Given the description of an element on the screen output the (x, y) to click on. 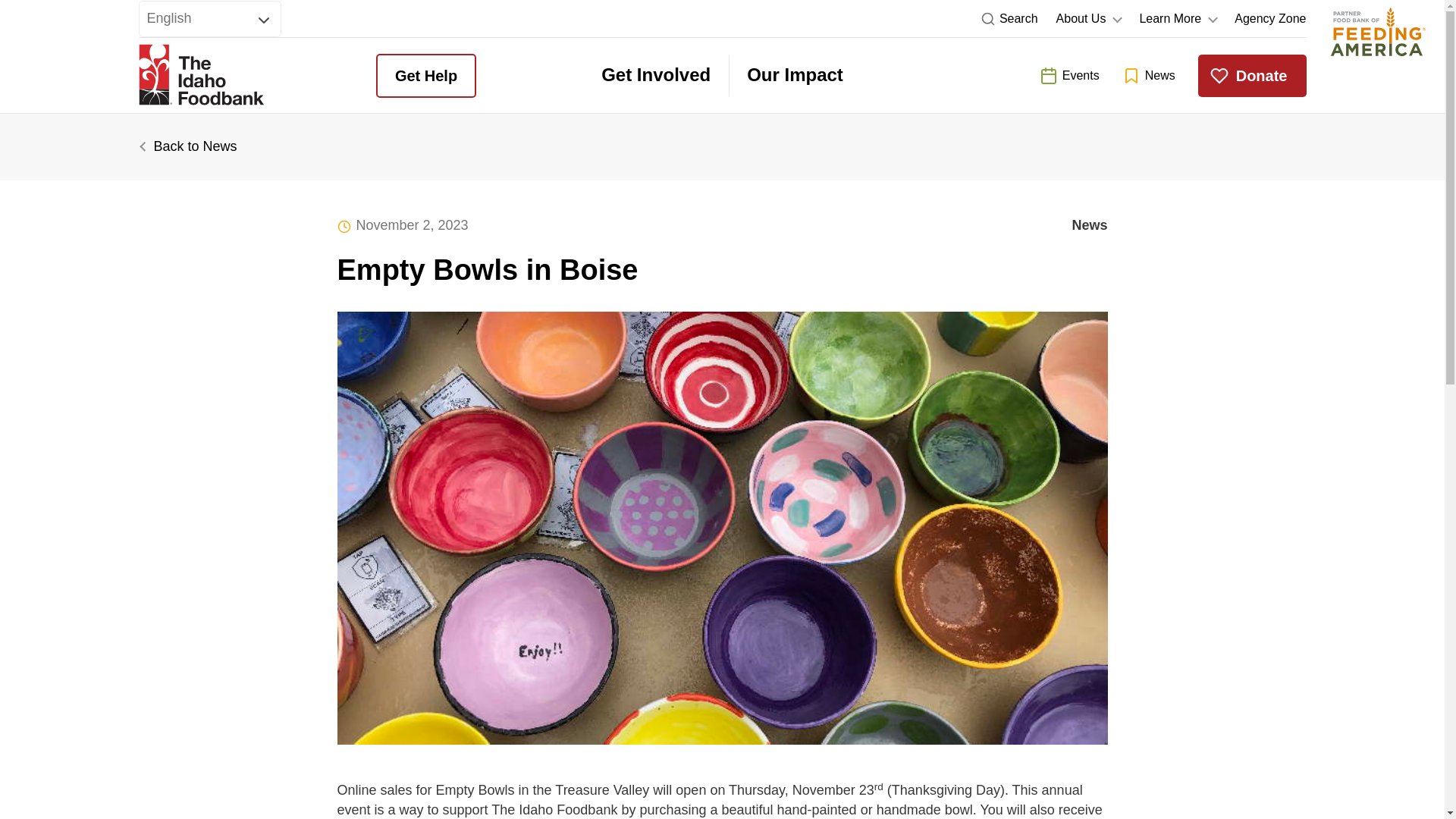
Go to Home page (200, 75)
Get Involved (655, 75)
Get Help (425, 75)
Search (1008, 18)
Our Impact (794, 75)
About Us (1089, 18)
Agency Zone (1270, 18)
Learn More (1176, 18)
